Given the description of an element on the screen output the (x, y) to click on. 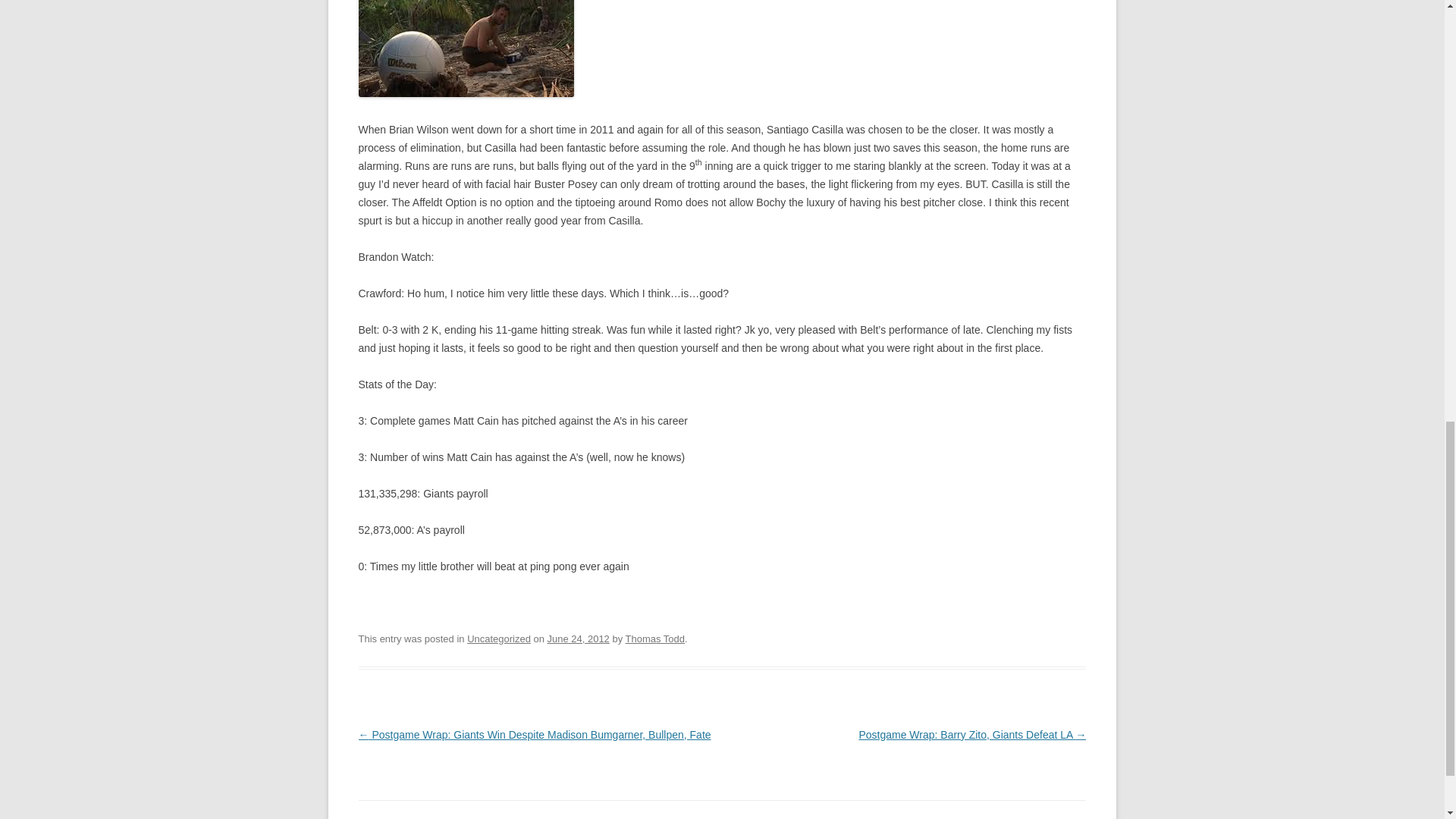
WILSON (465, 48)
June 24, 2012 (578, 638)
5:28 pm (578, 638)
View all posts by Thomas Todd (655, 638)
Thomas Todd (655, 638)
Uncategorized (499, 638)
